Given the description of an element on the screen output the (x, y) to click on. 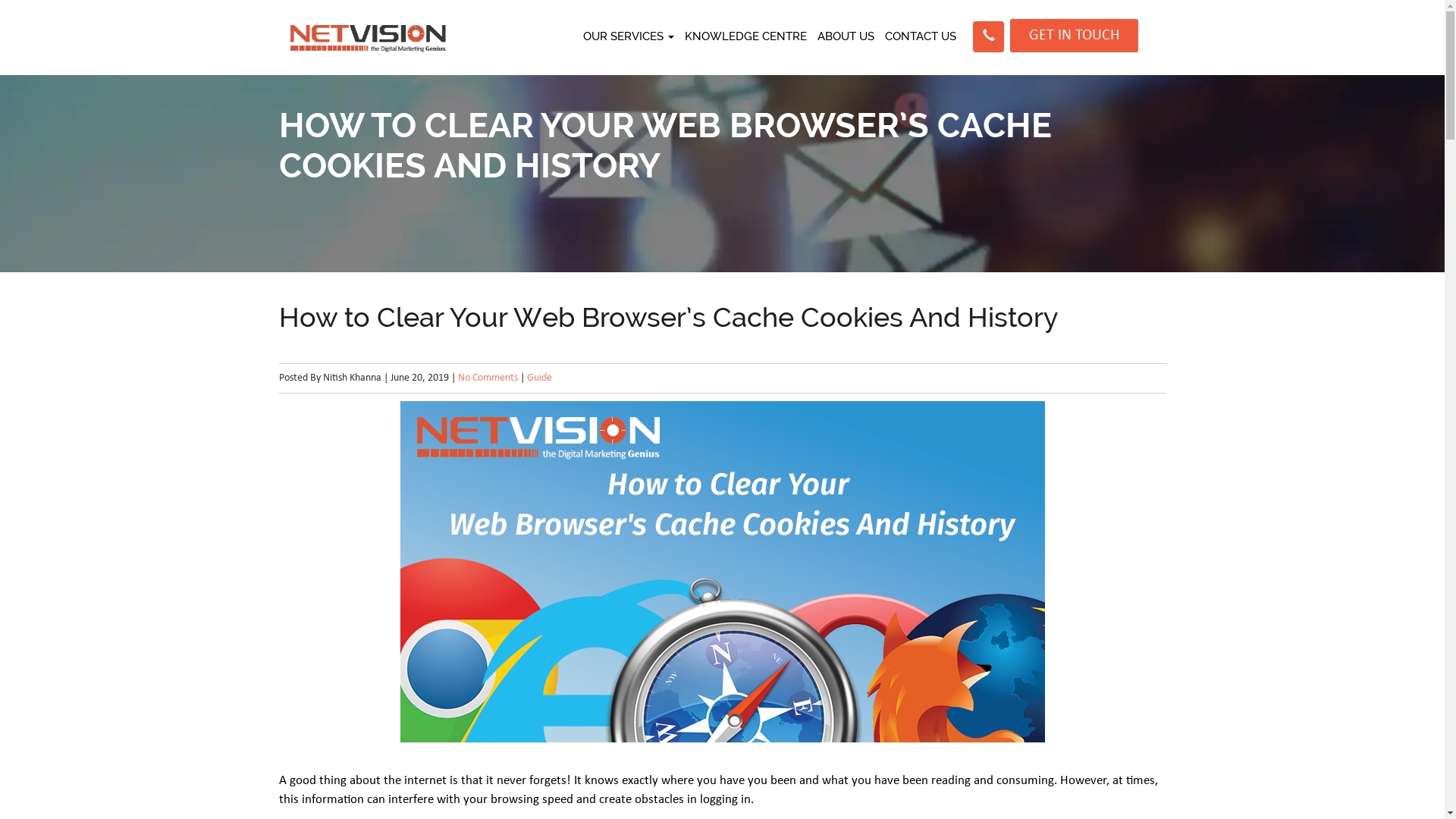
GET IN TOUCH Element type: text (1074, 35)
No Comments Element type: text (487, 377)
OUR SERVICES Element type: text (628, 36)
ABOUT US Element type: text (845, 36)
Guide Element type: text (538, 377)
KNOWLEDGE CENTRE Element type: text (745, 36)
CONTACT US Element type: text (920, 36)
